Given the description of an element on the screen output the (x, y) to click on. 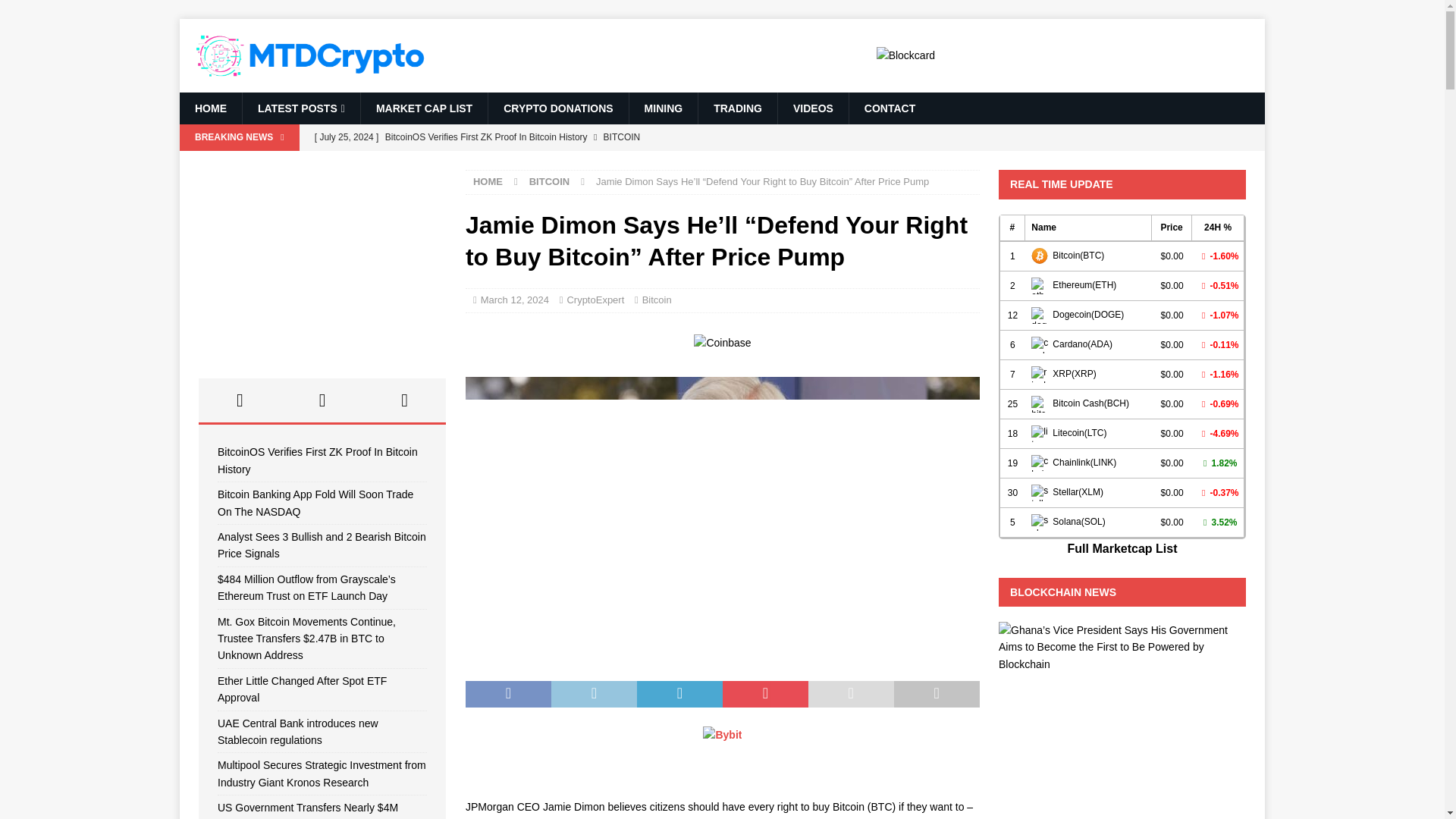
LATEST POSTS (300, 108)
BITCOIN (549, 181)
CRYPTO DONATIONS (557, 108)
VIDEOS (812, 108)
TRADING (737, 108)
Bitcoin Banking App Fold Will Soon Trade On The NASDAQ (596, 162)
BitcoinOS Verifies First ZK Proof In Bitcoin History (596, 136)
MINING (663, 108)
CryptoExpert (595, 299)
MARKET CAP LIST (423, 108)
CONTACT (889, 108)
HOME (210, 108)
Bitcoin (656, 299)
HOME (487, 181)
